Given the description of an element on the screen output the (x, y) to click on. 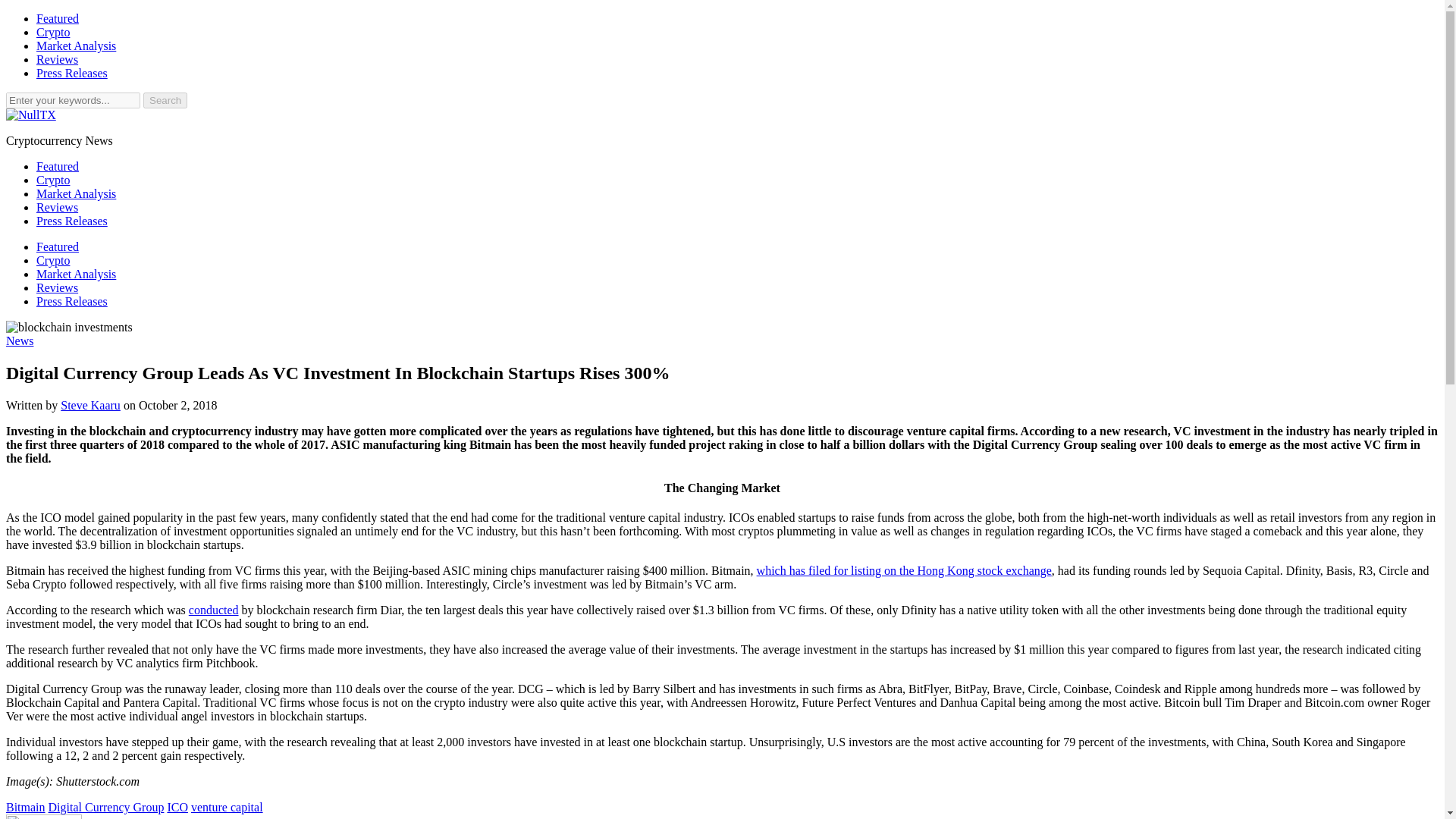
Bitmain (25, 807)
Reviews (57, 287)
Market Analysis (76, 193)
Reviews (57, 206)
Digital Currency Group (106, 807)
Posts by Steve Kaaru (90, 404)
ICO (177, 807)
News (19, 340)
Search (164, 100)
Featured (57, 165)
